Given the description of an element on the screen output the (x, y) to click on. 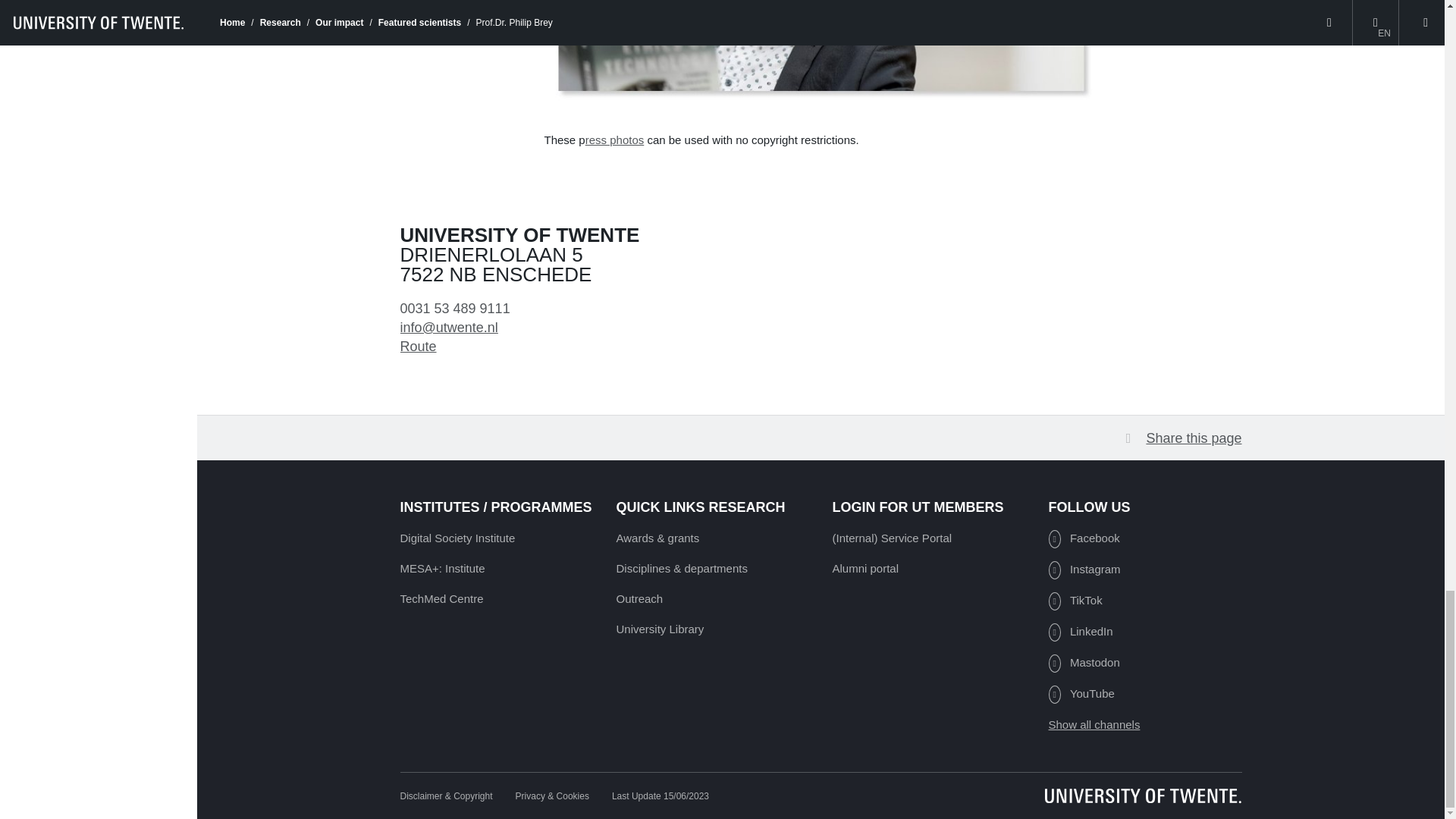
Share this page (1183, 437)
LinkedIn (1080, 631)
Instagram (1083, 569)
Alumni portal (865, 568)
Facebook (1083, 537)
ress photos (615, 139)
Outreach (638, 598)
Digital Society Institute (457, 537)
TechMed Centre (441, 598)
Route (418, 346)
